Given the description of an element on the screen output the (x, y) to click on. 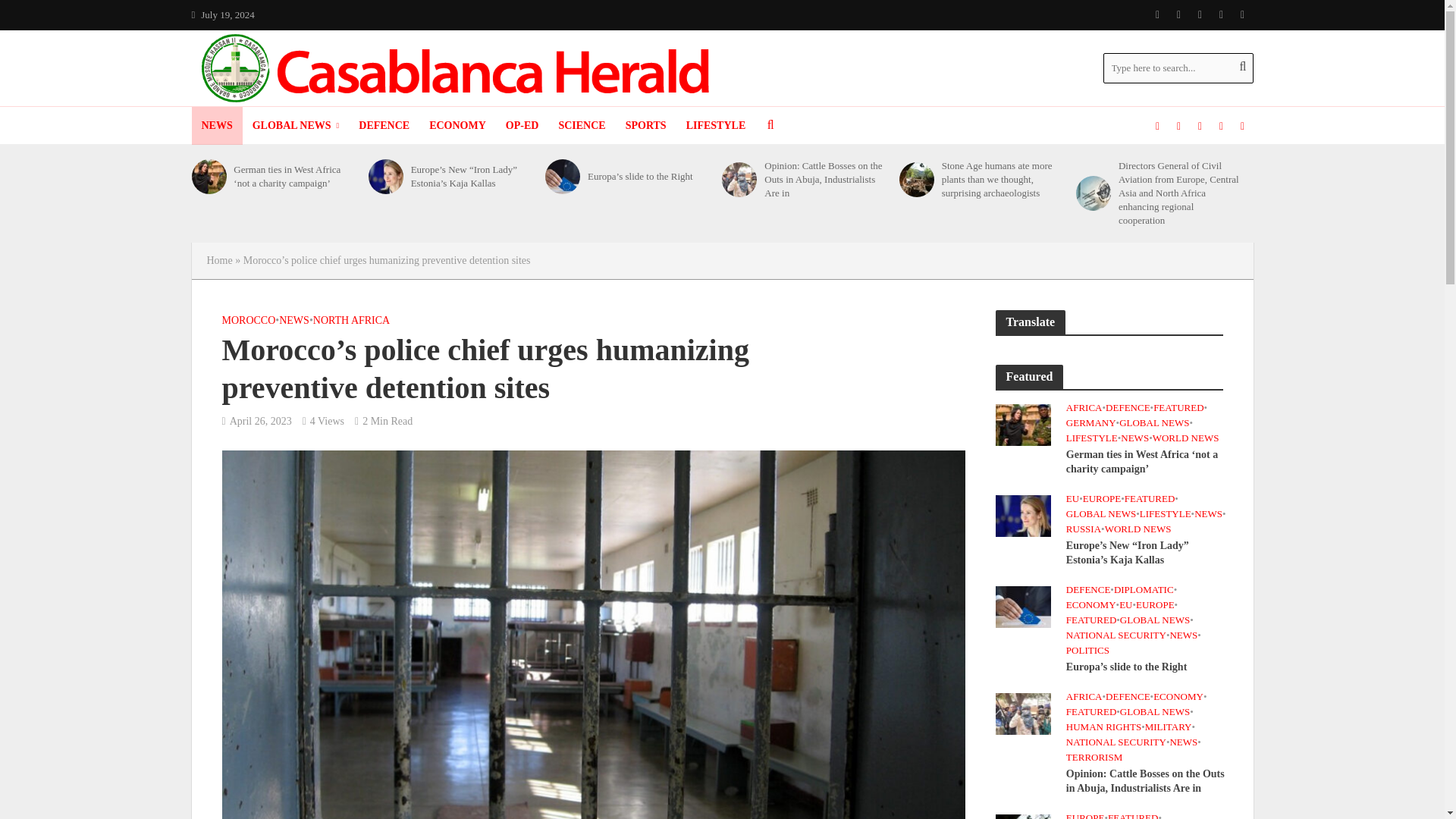
GLOBAL NEWS (296, 125)
NEWS (215, 125)
